Given the description of an element on the screen output the (x, y) to click on. 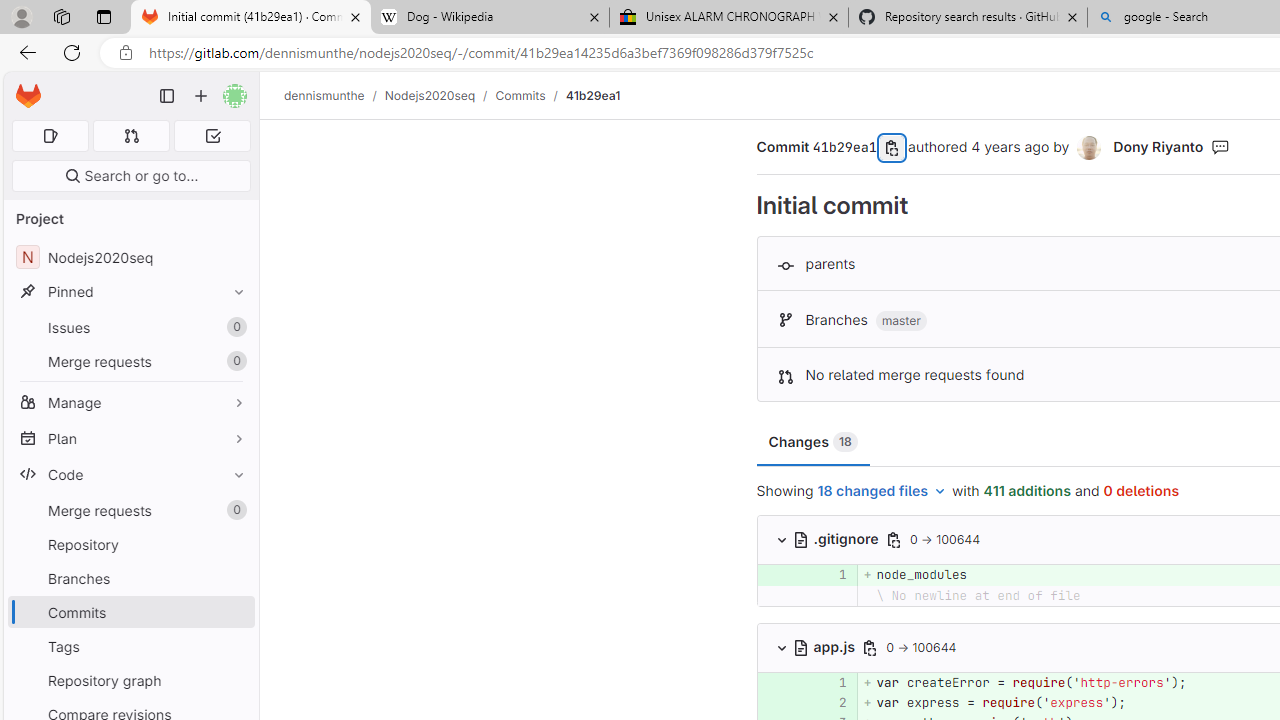
Nodejs2020seq (430, 95)
Repository (130, 543)
18 changed files (882, 491)
2 (831, 701)
Unpin Issues (234, 327)
Manage (130, 402)
Code (130, 474)
Pin Branches (234, 578)
Copied (892, 148)
Plan (130, 438)
Branches (130, 578)
Dony Riyanto (1158, 146)
Homepage (27, 96)
